Given the description of an element on the screen output the (x, y) to click on. 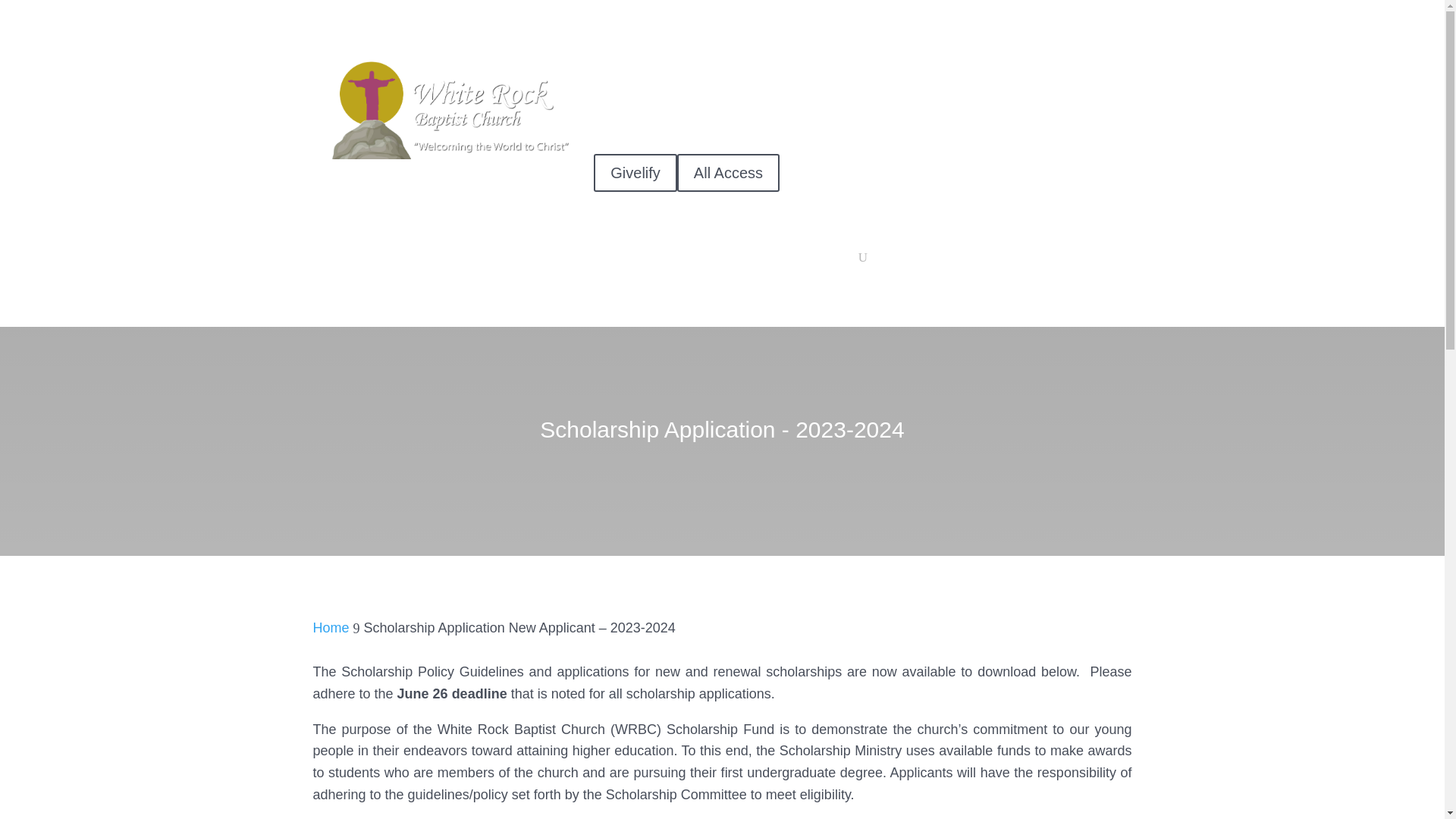
Login (1096, 80)
Follow on Facebook (1058, 123)
MEMBERSHIP (706, 218)
Follow on Instagram (1118, 123)
WAYS TO WORSHIP (972, 218)
RESOURCES (1089, 218)
WHITE ROCK MINISTRIES (832, 218)
Follow on Youtube (1088, 123)
Givelify (635, 172)
WATCH NOW (862, 241)
All Access (727, 172)
ABOUT (620, 218)
